Given the description of an element on the screen output the (x, y) to click on. 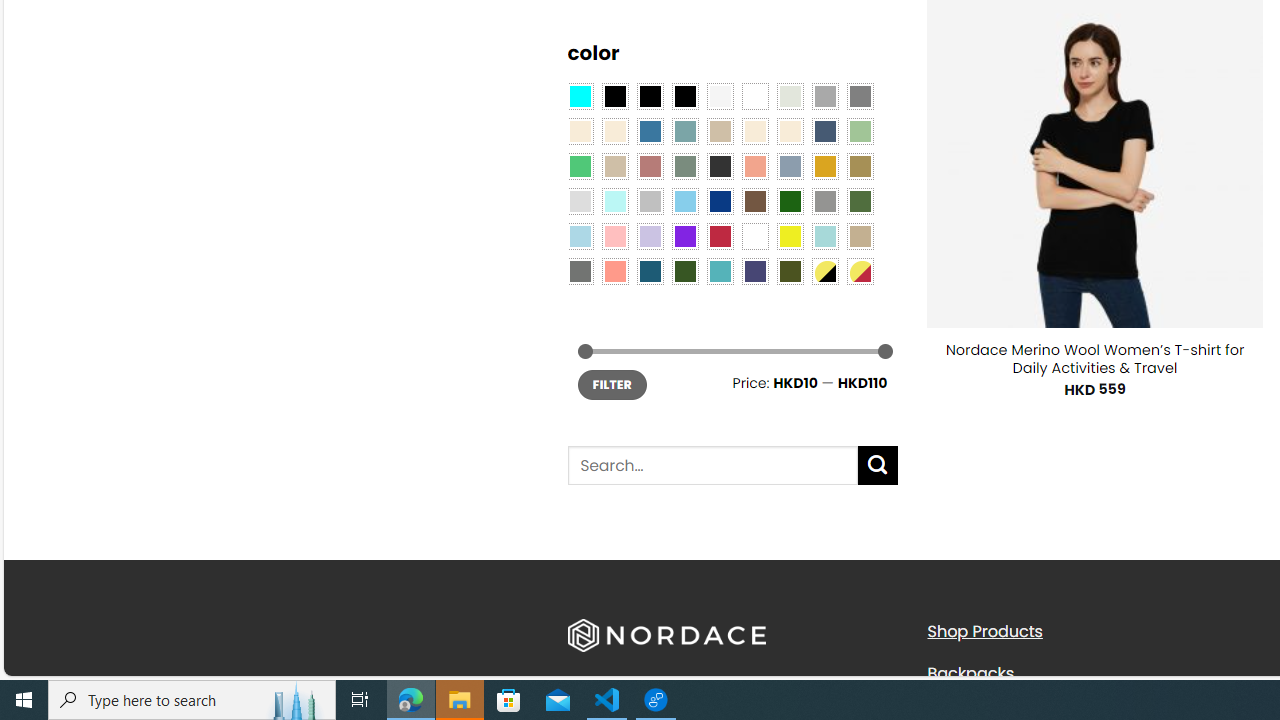
Beige (579, 131)
Capri Blue (650, 270)
Caramel (755, 131)
Blue Sage (684, 131)
Beige-Brown (614, 131)
FILTER (612, 384)
Rose (650, 165)
Blue (650, 131)
Gray (824, 200)
Submit (877, 465)
All Gray (859, 95)
Light Purple (650, 236)
Green (859, 200)
Brownie (719, 131)
Pearly White (719, 95)
